Given the description of an element on the screen output the (x, y) to click on. 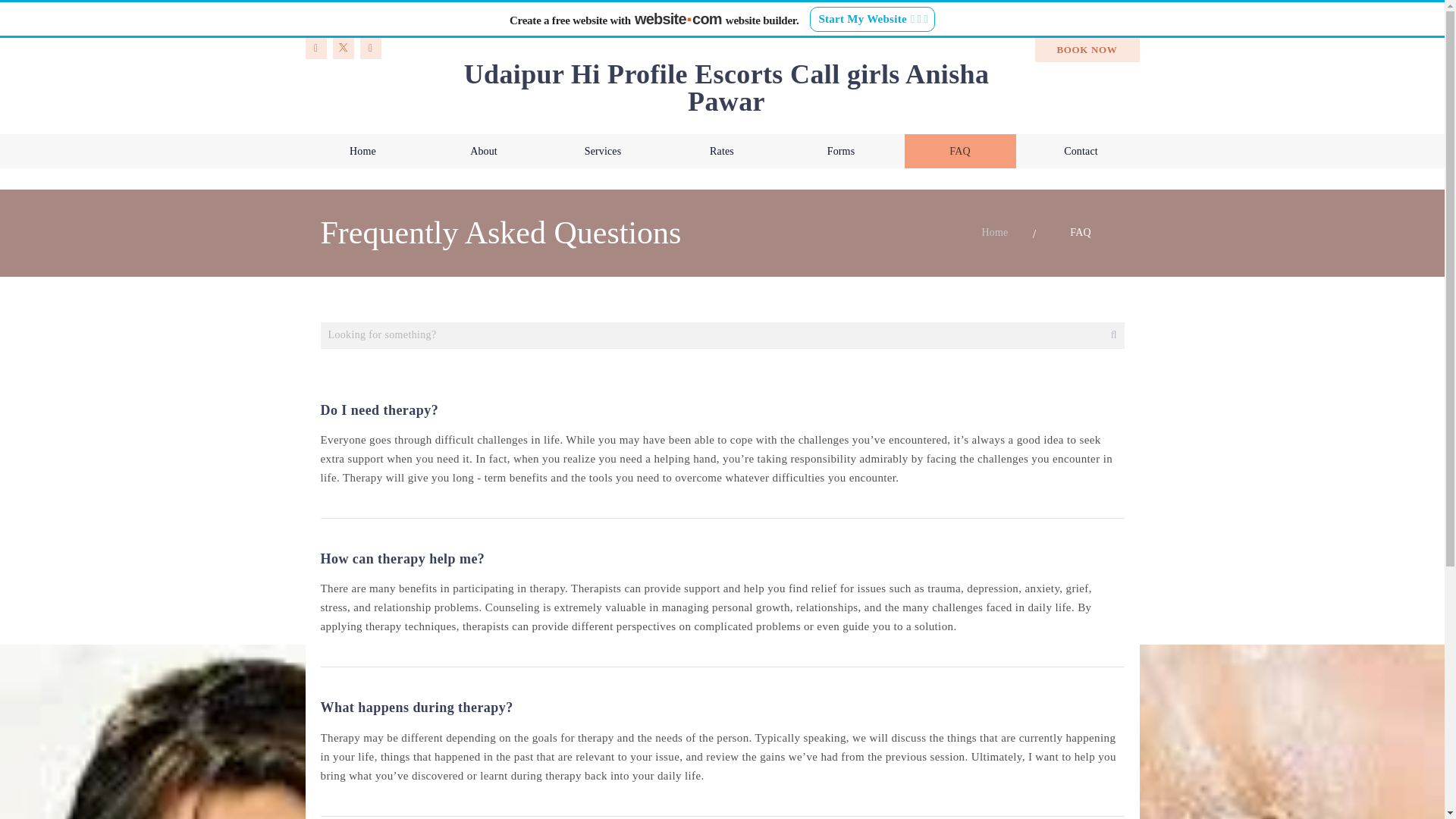
Contact (1080, 151)
About (483, 151)
Website Builder (842, 814)
Home (362, 151)
FAQ (959, 151)
Udaipur Hi Profile Escorts Call girls Anisha Pawar (726, 87)
FAQ (1079, 232)
Free Website (597, 814)
Rates (721, 151)
BOOK NOW (1085, 49)
Services (603, 151)
Home (995, 232)
Forms (841, 151)
